Given the description of an element on the screen output the (x, y) to click on. 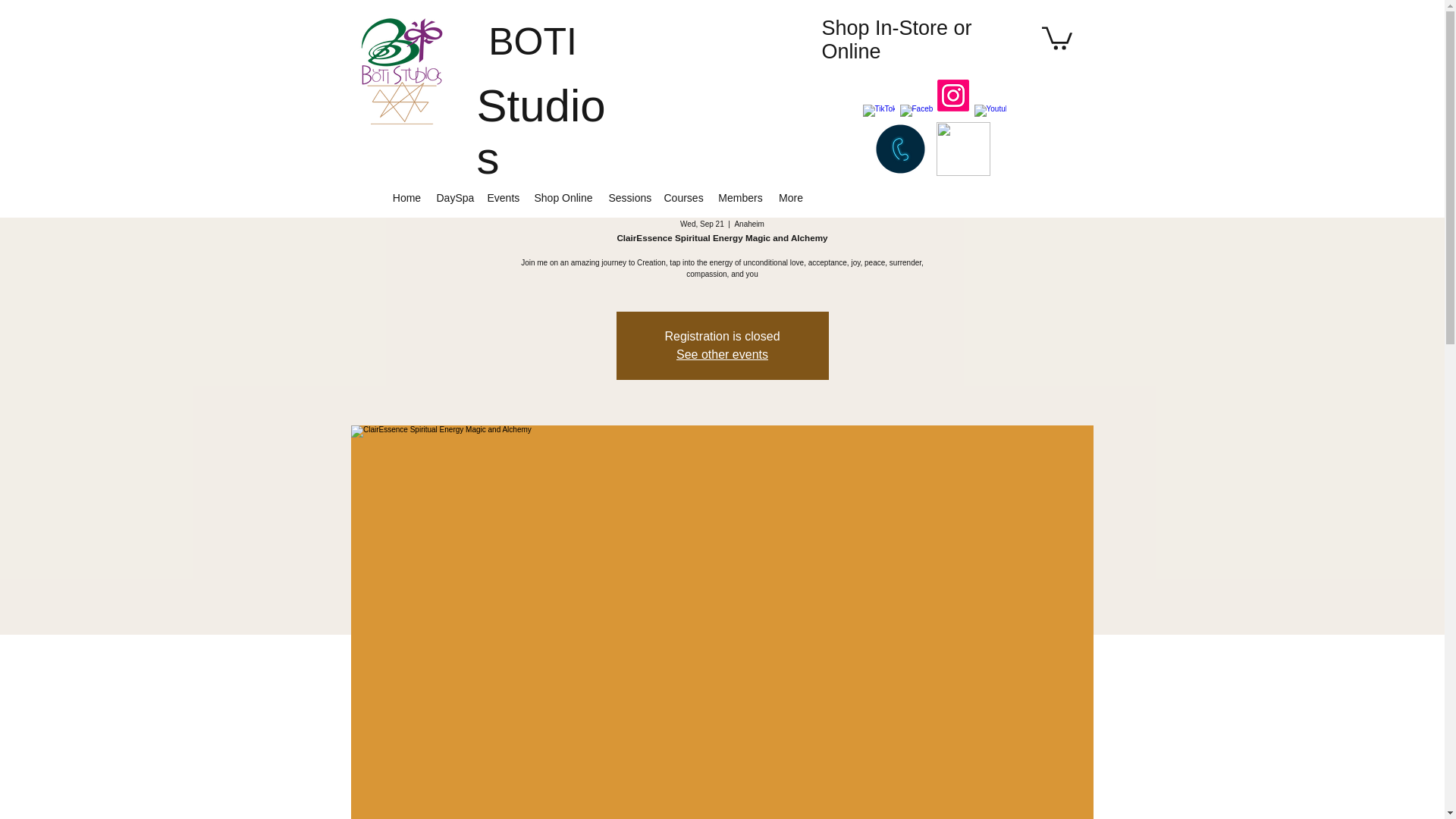
BOTI (531, 41)
DaySpa (454, 197)
Courses (683, 197)
Home (407, 197)
Sessions (627, 197)
See other events (722, 354)
Members (740, 197)
Events (502, 197)
Shop Online (563, 197)
